Given the description of an element on the screen output the (x, y) to click on. 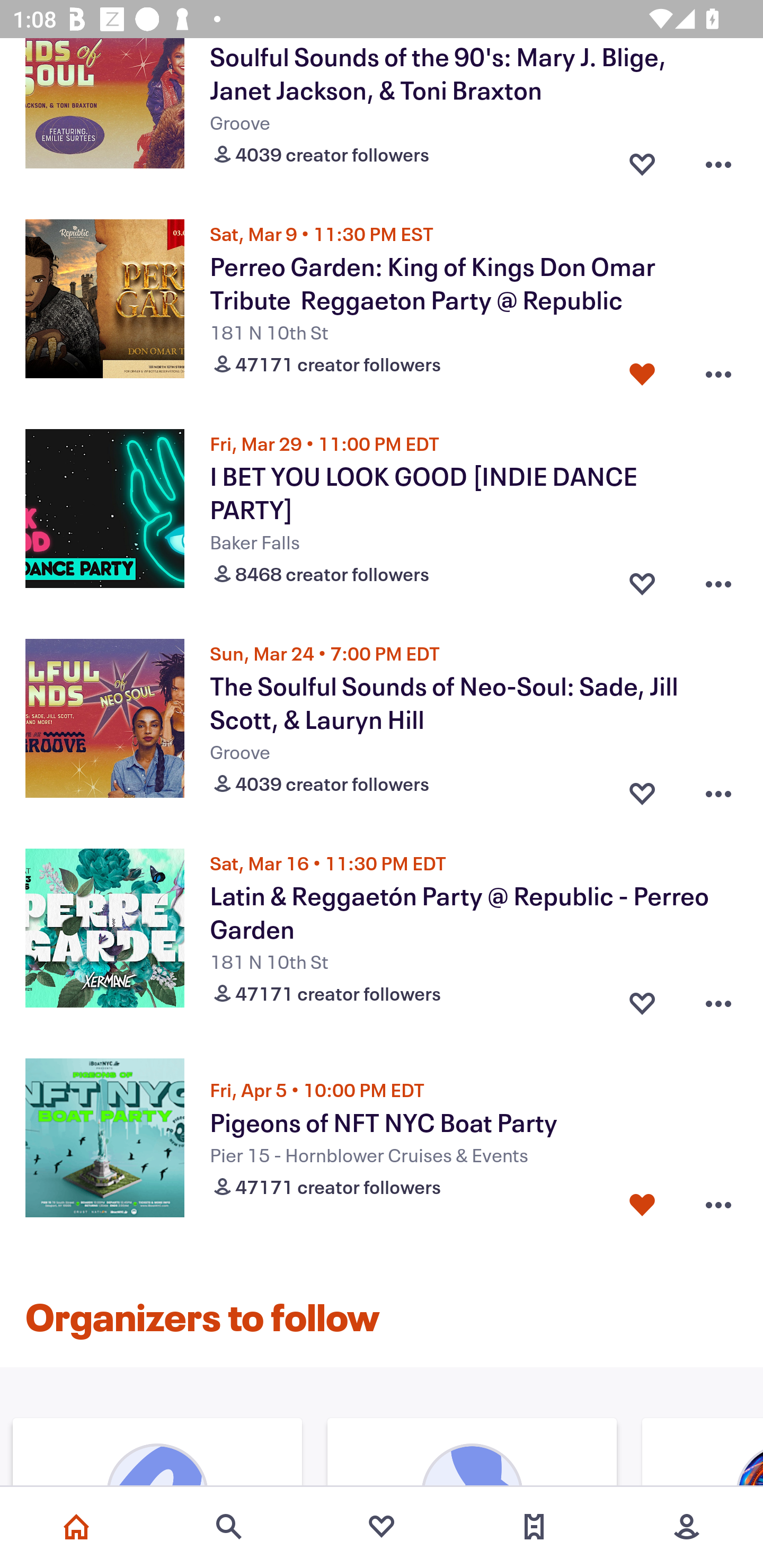
Favorite button (642, 160)
Overflow menu button (718, 160)
Favorite button (642, 369)
Overflow menu button (718, 369)
Favorite button (642, 579)
Overflow menu button (718, 579)
Favorite button (642, 789)
Overflow menu button (718, 789)
Favorite button (642, 999)
Overflow menu button (718, 999)
Favorite button (642, 1204)
Overflow menu button (718, 1204)
Home (76, 1526)
Search events (228, 1526)
Favorites (381, 1526)
Tickets (533, 1526)
More (686, 1526)
